Given the description of an element on the screen output the (x, y) to click on. 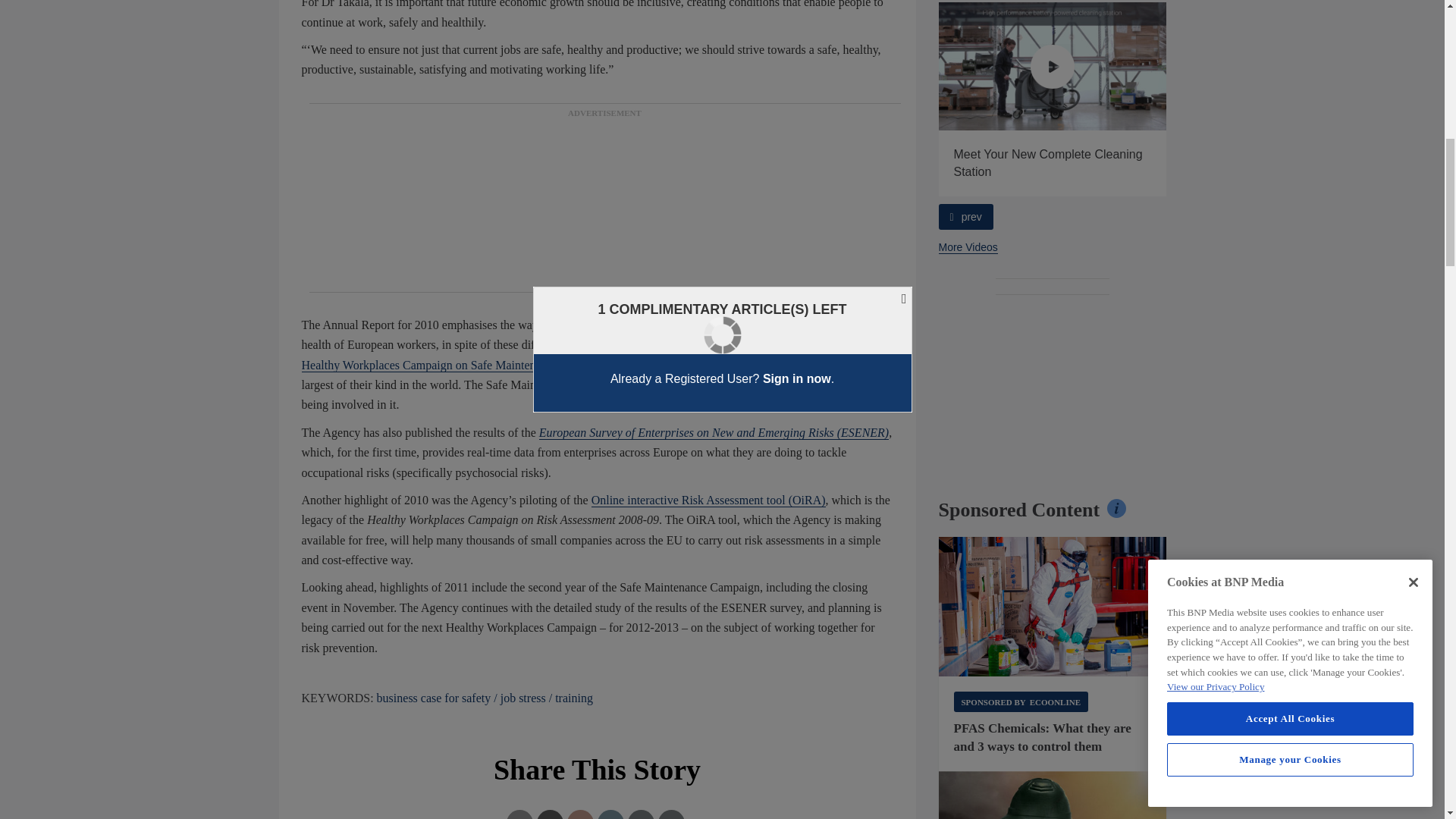
Sponsored by EcoOnline (1021, 701)
Meet Your New Complete Cleaning Station (1052, 66)
chemical safety (1052, 606)
man working in summer heat (1052, 795)
Watch How CarbonX Burns the Competition (825, 66)
